Given the description of an element on the screen output the (x, y) to click on. 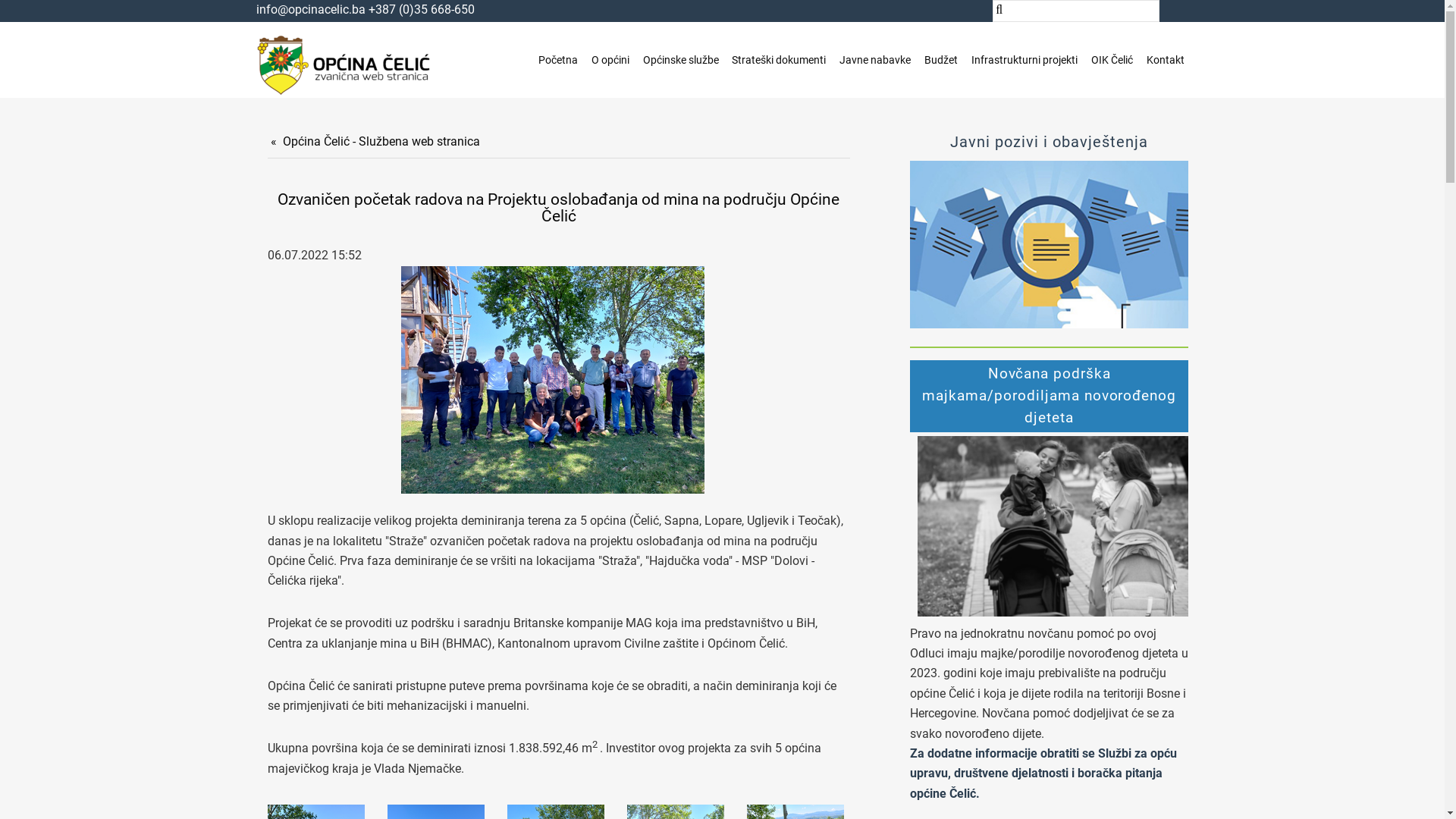
Pretraga Element type: text (44, 20)
Kontakt Element type: text (1165, 60)
info@opcinacelic.ba Element type: text (310, 9)
+387 (0)35 668-650 Element type: text (421, 9)
Infrastrukturni projekti Element type: text (1024, 60)
Javne nabavke Element type: text (875, 60)
